Given the description of an element on the screen output the (x, y) to click on. 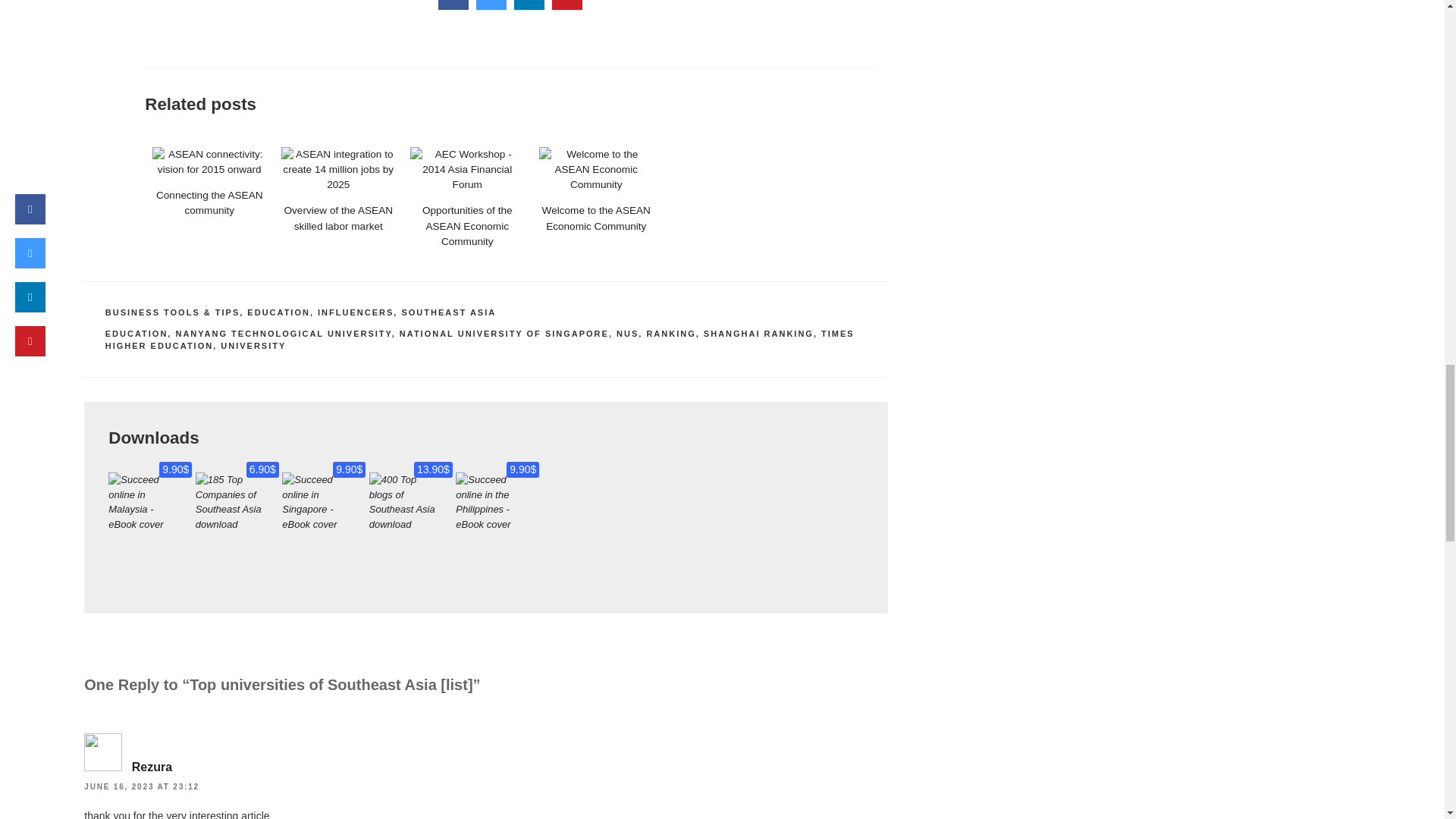
Share to LinkedIn (528, 6)
Share on Facebook (453, 6)
Share on Twitter (491, 6)
Share on Pinterest (566, 6)
Opportunities of the ASEAN Economic Community (467, 170)
Overview of the ASEAN skilled labor market (337, 170)
Connecting the ASEAN community (209, 162)
Welcome to the ASEAN Economic Community (595, 170)
